Given the description of an element on the screen output the (x, y) to click on. 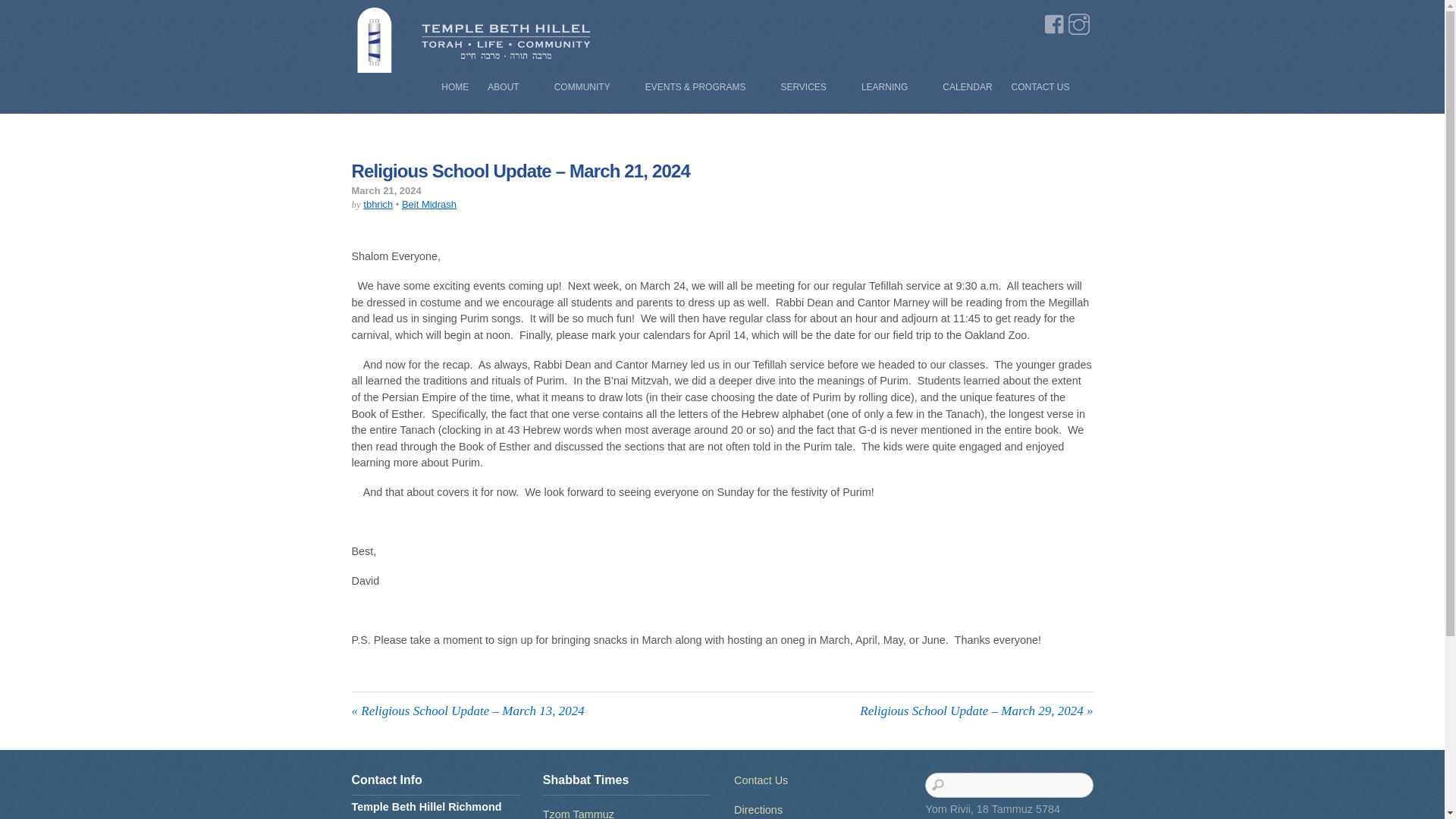
ABOUT (510, 87)
Search (1008, 785)
HOME (454, 87)
LEARNING (892, 87)
CONTACT US (1048, 87)
Temple Beth Hillel Richmond California (473, 65)
CALENDAR (966, 87)
tbhrich (377, 204)
COMMUNITY (590, 87)
Beit Midrash (429, 204)
SERVICES (810, 87)
